Given the description of an element on the screen output the (x, y) to click on. 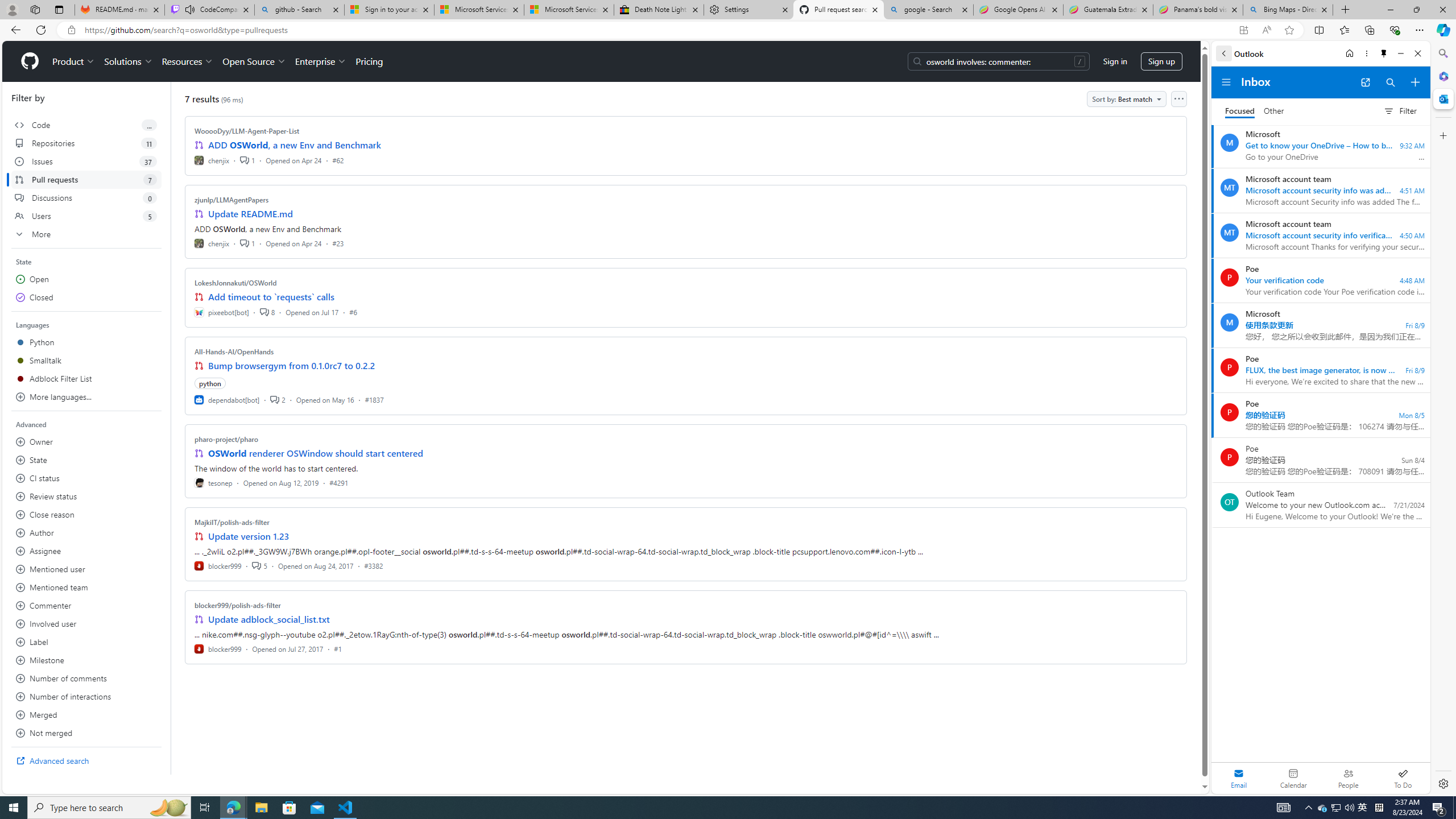
5 (259, 565)
Open Source (254, 60)
dependabot[bot] (227, 398)
Calendar. Date today is 22 (1293, 777)
